Given the description of an element on the screen output the (x, y) to click on. 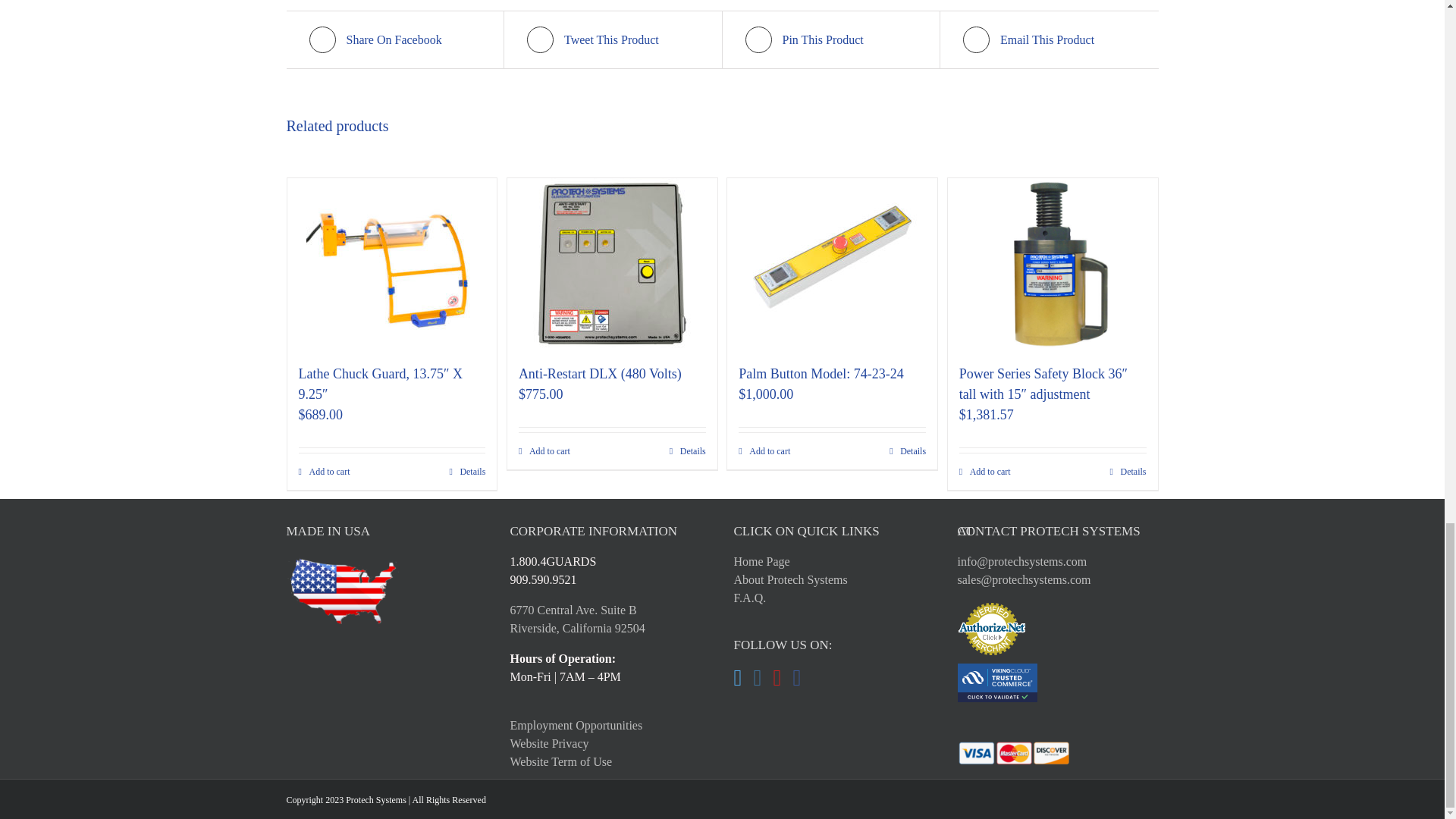
MADE IN USA (342, 590)
Google Map (577, 618)
